Given the description of an element on the screen output the (x, y) to click on. 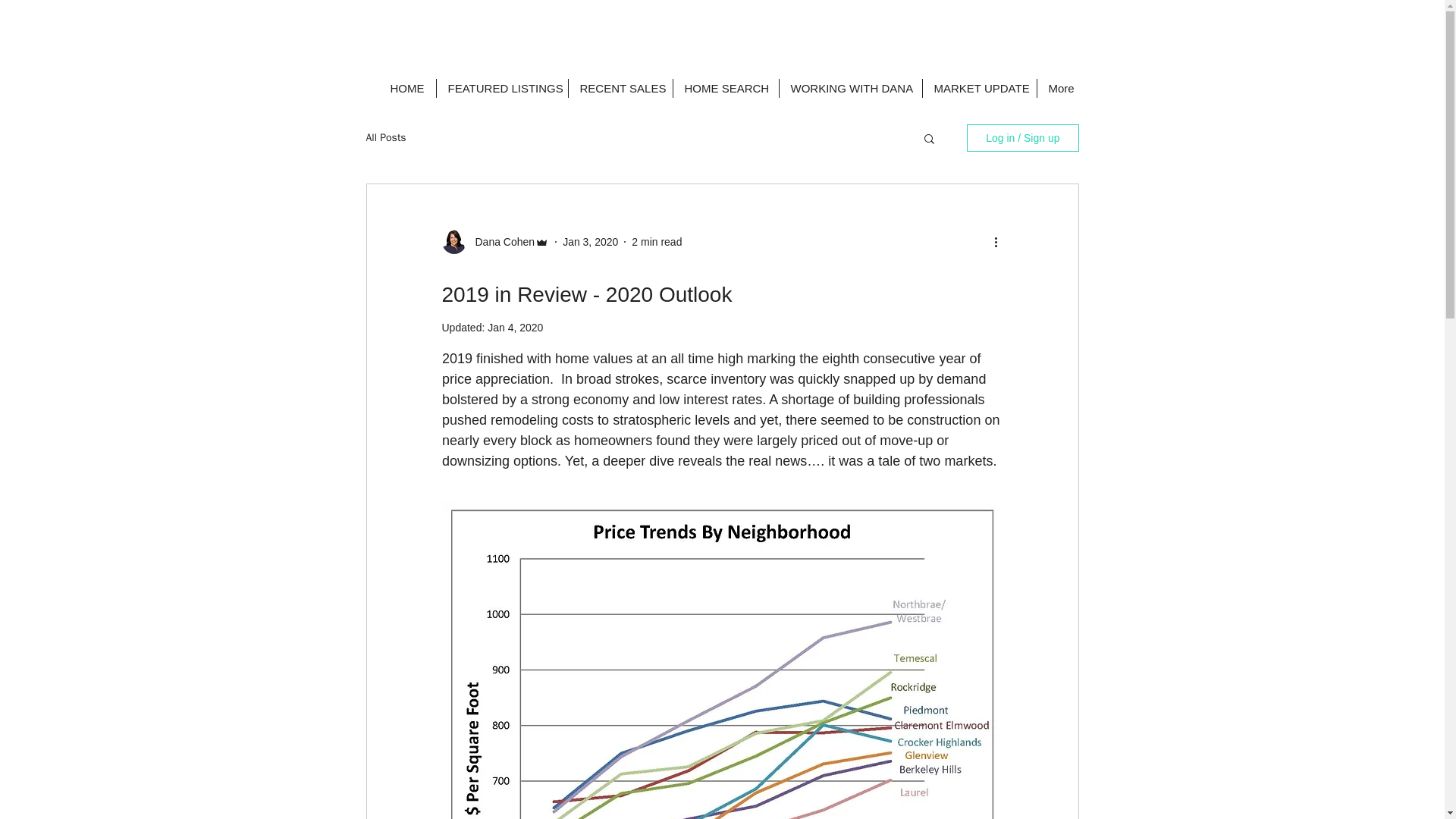
All Posts (385, 137)
HOME (406, 87)
Dana Cohen (499, 241)
2 min read (656, 241)
510-813-0321 (770, 17)
Jan 3, 2020 (589, 241)
FEATURED LISTINGS (501, 87)
HOME SEARCH (725, 87)
MARKET UPDATE (978, 87)
RECENT SALES (620, 87)
